Given the description of an element on the screen output the (x, y) to click on. 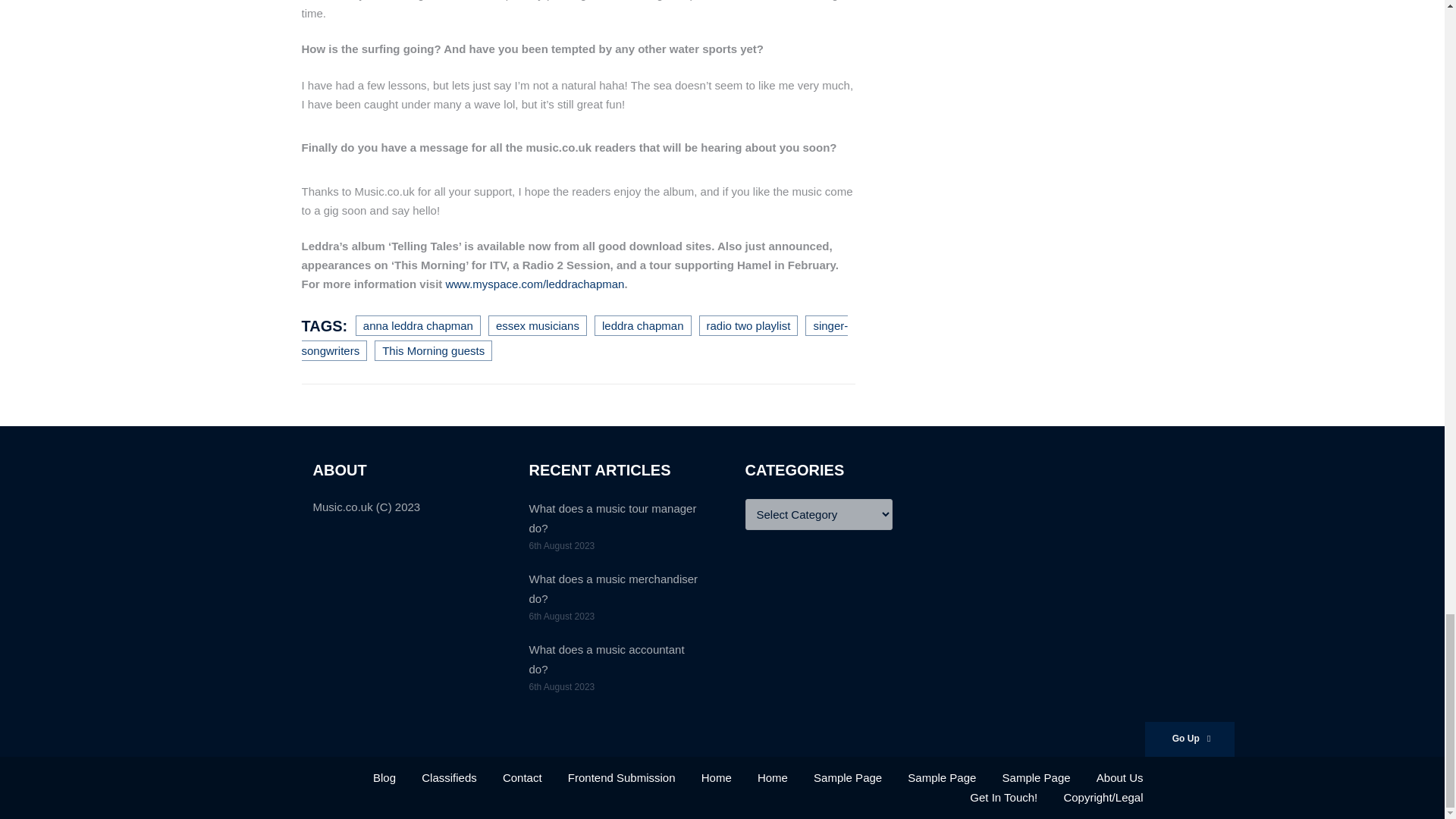
anna leddra chapman (417, 324)
singer-songwriters (574, 337)
essex musicians (536, 324)
leddra chapman (642, 324)
This Morning guests (433, 350)
radio two playlist (747, 324)
